Given the description of an element on the screen output the (x, y) to click on. 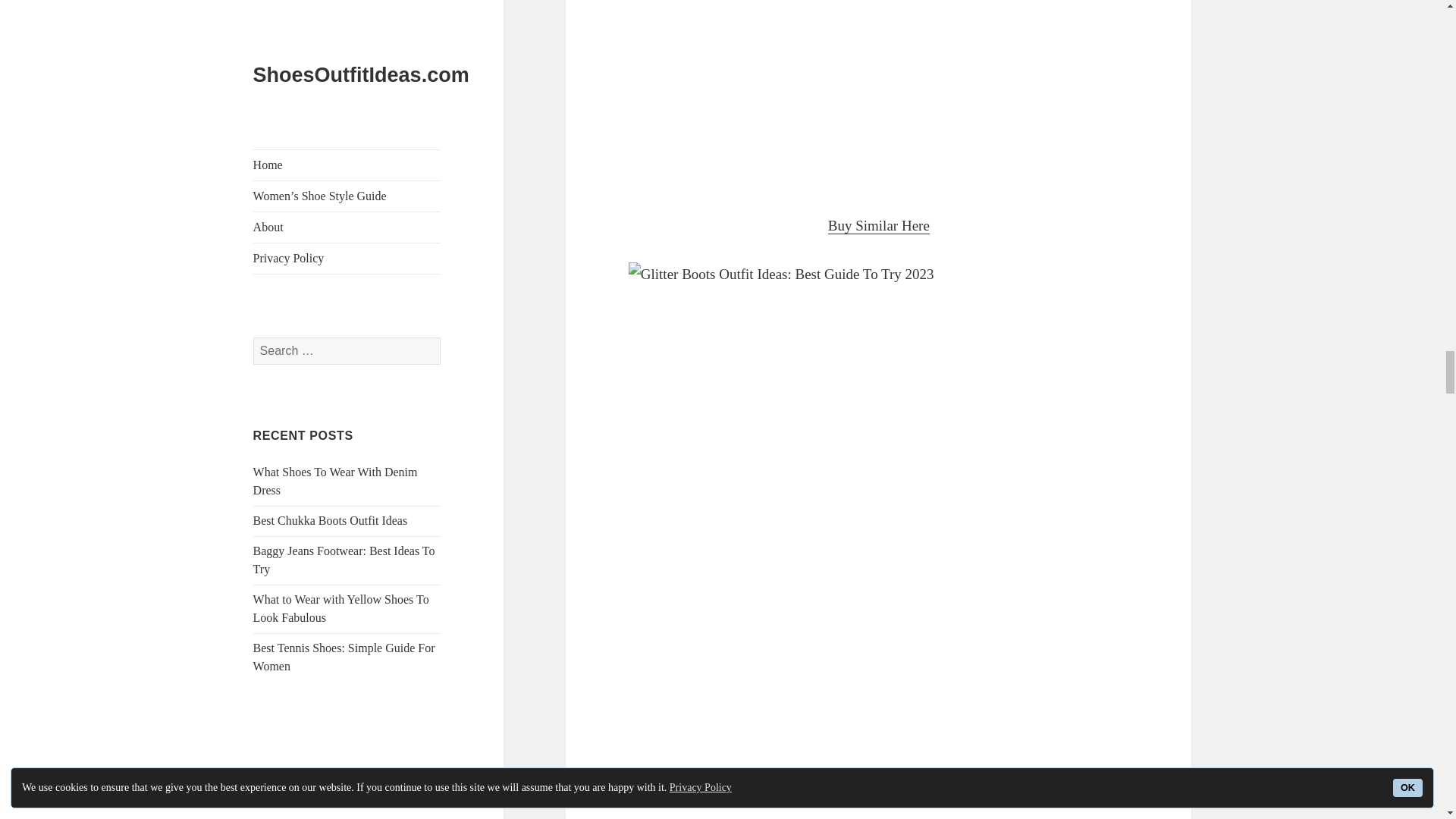
Buy Similar Here (879, 225)
Glitter Boots Outfit Ideas: Best Guide To Try 2023 (878, 94)
Buy Similar Here (879, 783)
